Given the description of an element on the screen output the (x, y) to click on. 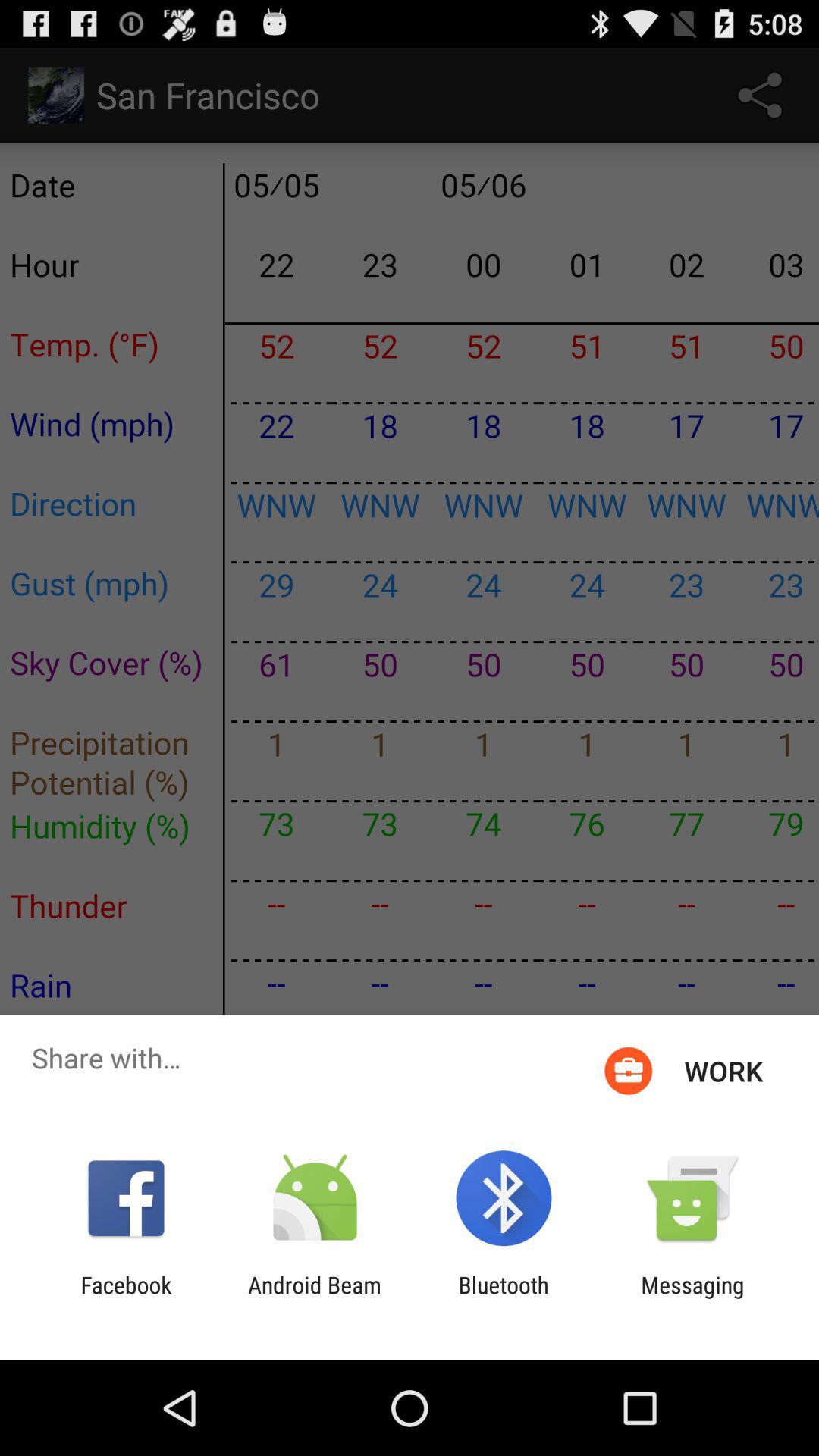
tap the icon next to bluetooth app (314, 1298)
